Given the description of an element on the screen output the (x, y) to click on. 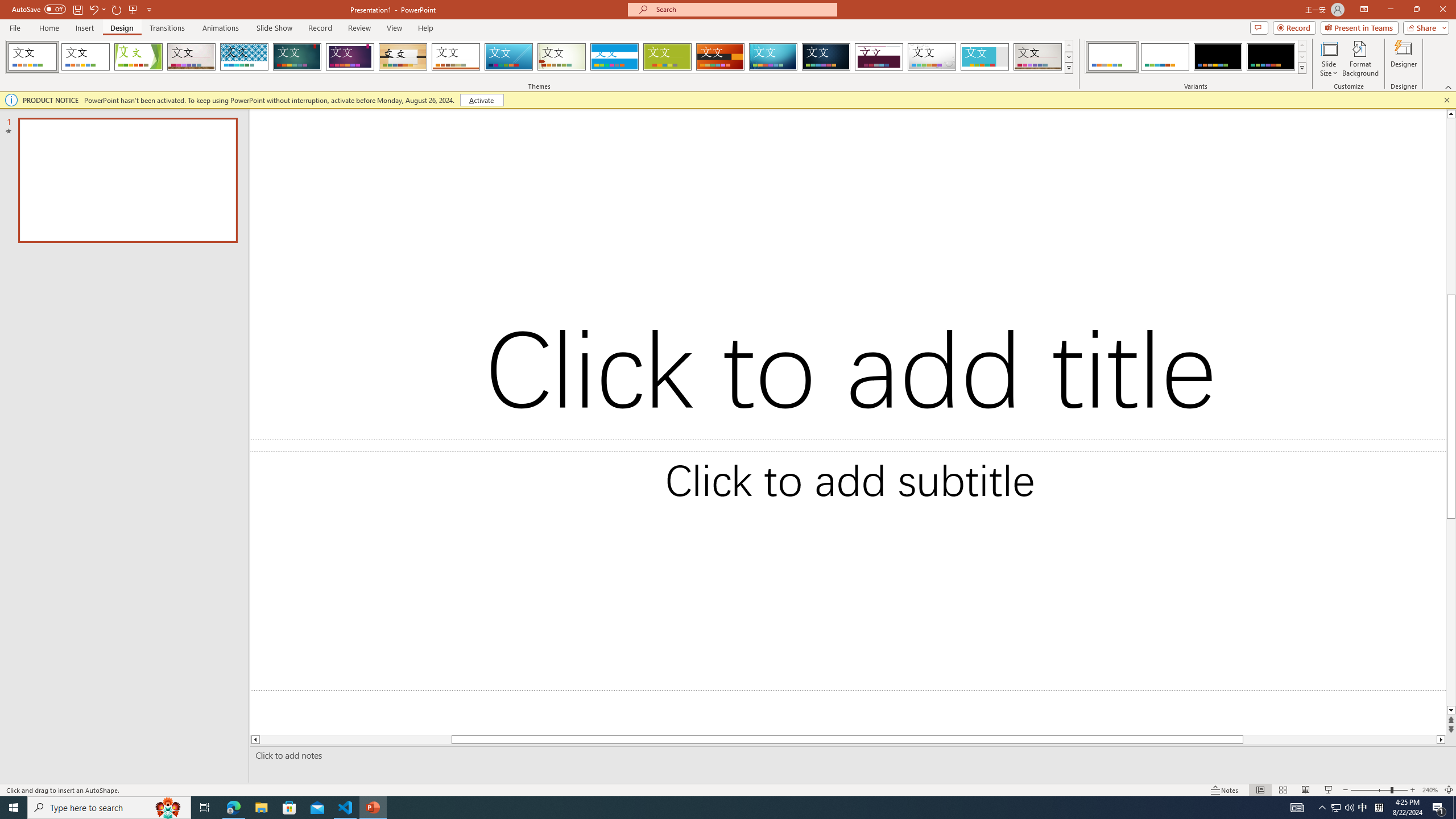
Office Theme Variant 3 (1217, 56)
Ion Boardroom (350, 56)
Droplet (931, 56)
Activate (481, 100)
